Given the description of an element on the screen output the (x, y) to click on. 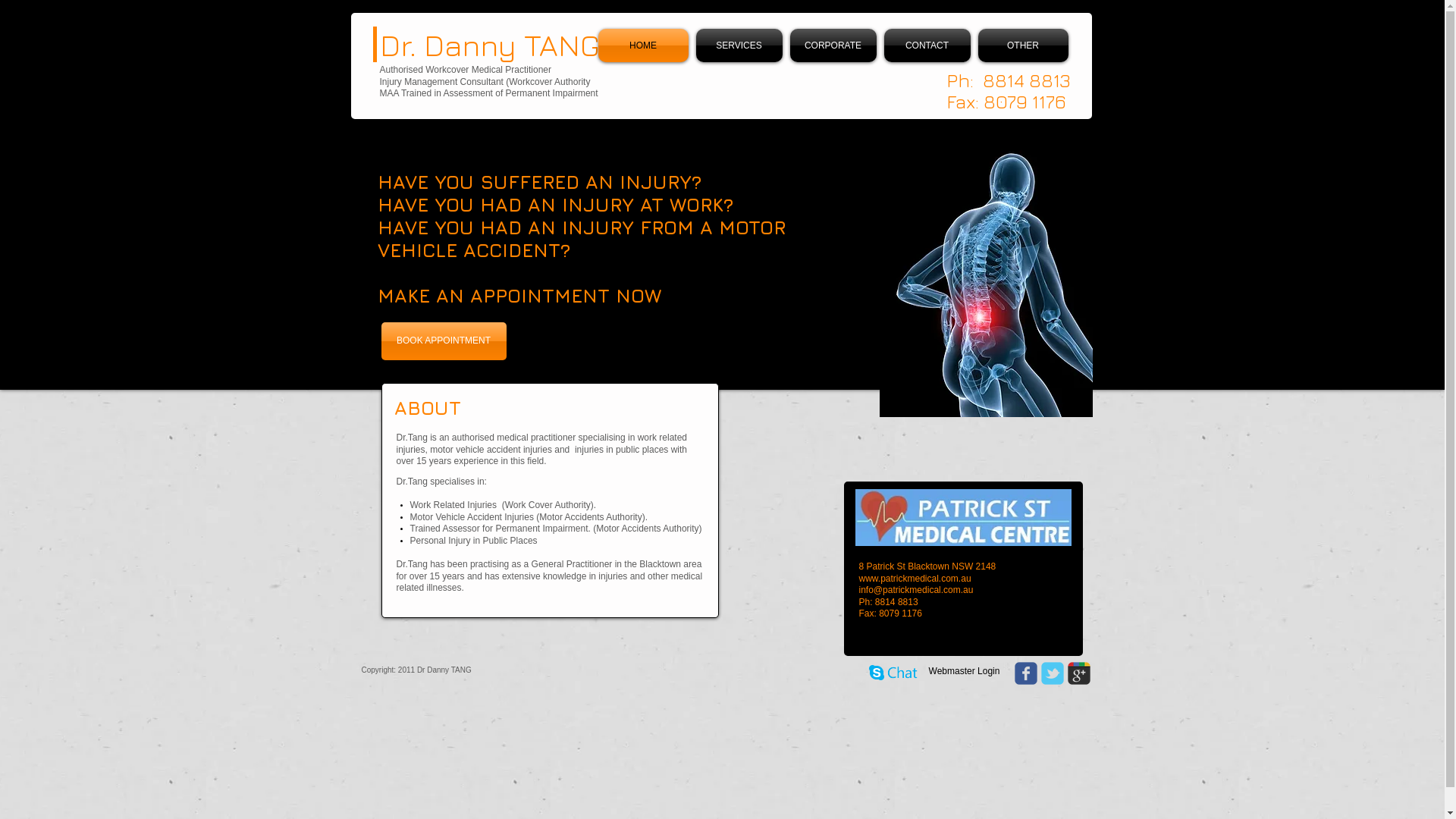
HOME Element type: text (644, 45)
Call 02 8814 8813 For An Appointment  Element type: hover (963, 517)
www.patrickmedical.com.au Element type: text (914, 578)
WorkCover and Motor Vehicle Specialist Element type: hover (986, 274)
CONTACT Element type: text (926, 45)
Webmaster Login Element type: text (963, 671)
SERVICES Element type: text (738, 45)
Dr. Danny TANG Element type: text (489, 44)
CORPORATE Element type: text (832, 45)
BOOK APPOINTMENT Element type: text (442, 341)
Chat via Skype Element type: hover (893, 674)
OTHER Element type: text (1020, 45)
info@patrickmedical.com.au Element type: text (915, 589)
